Given the description of an element on the screen output the (x, y) to click on. 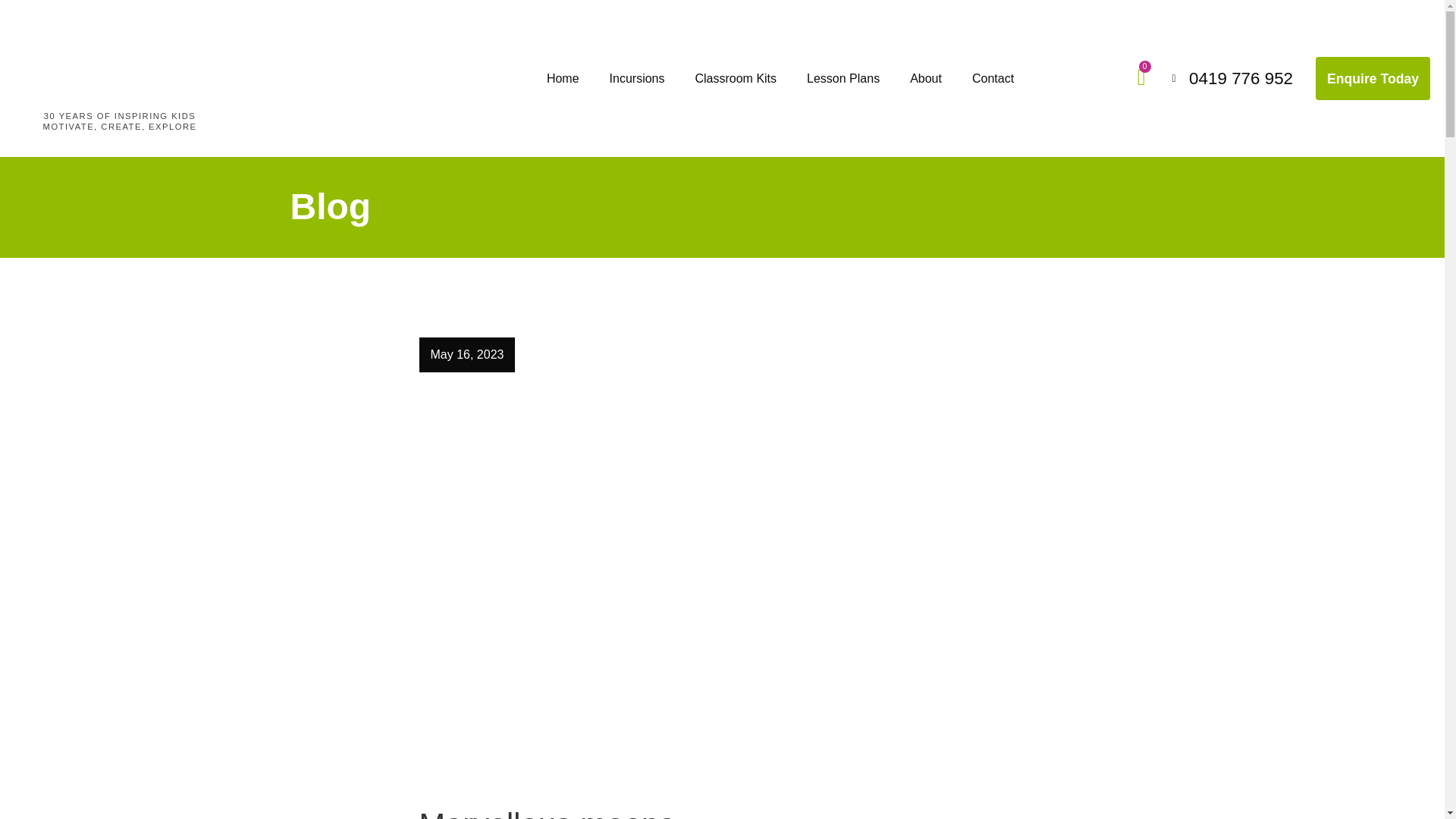
Lesson Plans (843, 78)
About (925, 78)
Home (562, 78)
Classroom Kits (735, 78)
Incursions (636, 78)
Contact (992, 78)
